Given the description of an element on the screen output the (x, y) to click on. 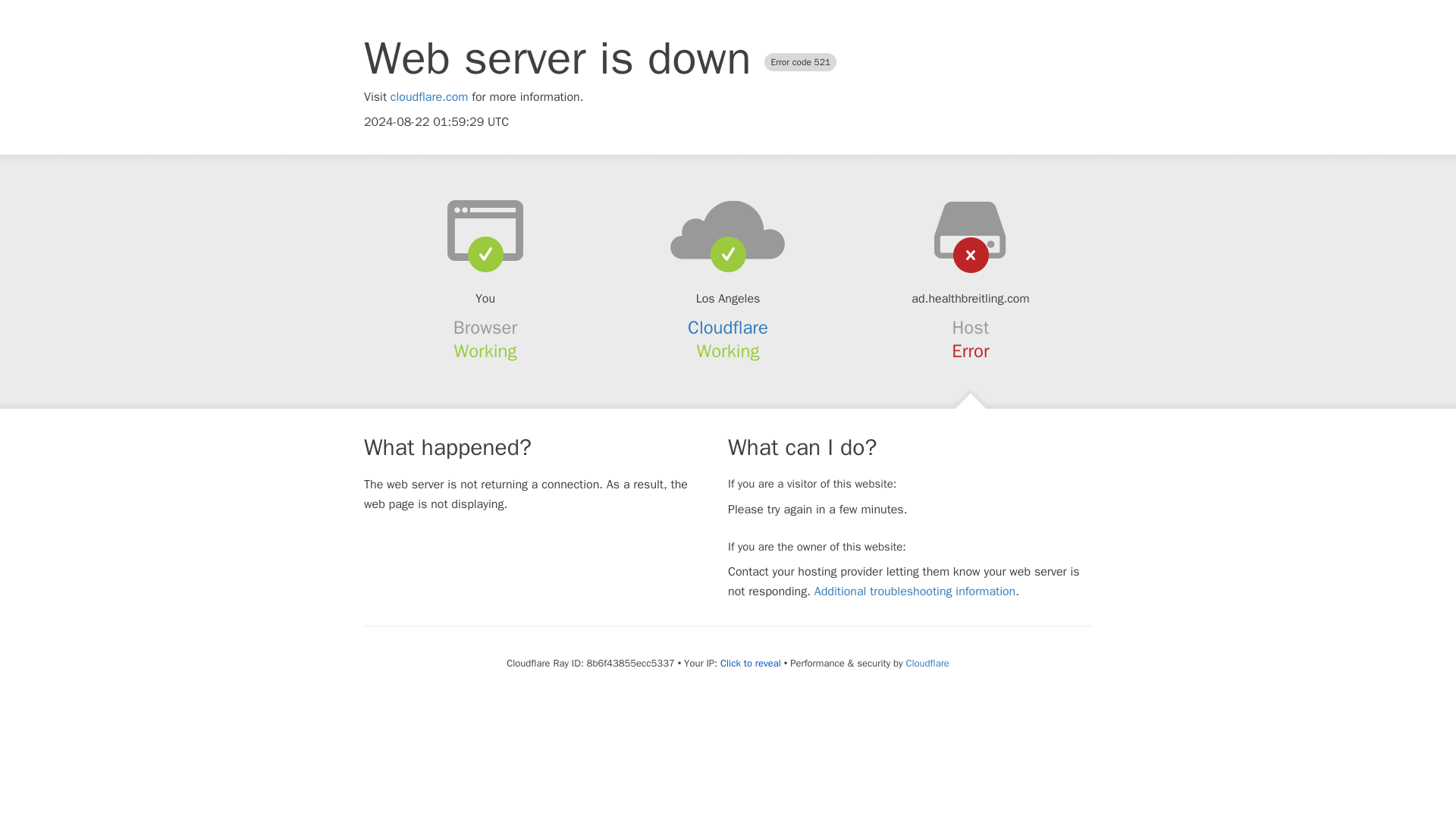
Additional troubleshooting information (913, 590)
Click to reveal (750, 663)
Cloudflare (927, 662)
Cloudflare (727, 327)
cloudflare.com (429, 96)
